Given the description of an element on the screen output the (x, y) to click on. 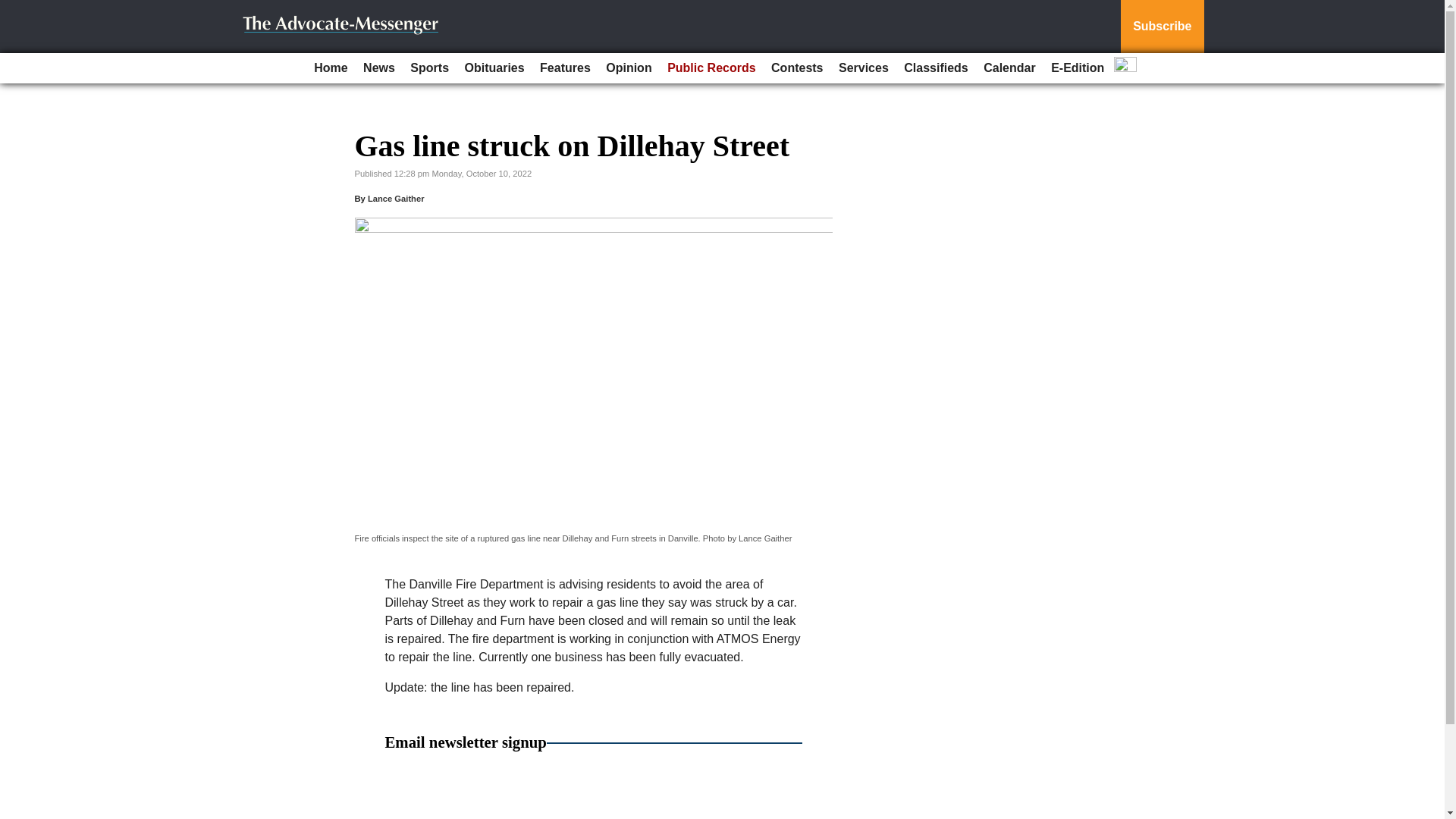
Opinion (628, 68)
Obituaries (493, 68)
E-Edition (1077, 68)
Home (330, 68)
Contests (796, 68)
Calendar (1008, 68)
Public Records (711, 68)
Sports (429, 68)
Classifieds (936, 68)
Services (863, 68)
